Given the description of an element on the screen output the (x, y) to click on. 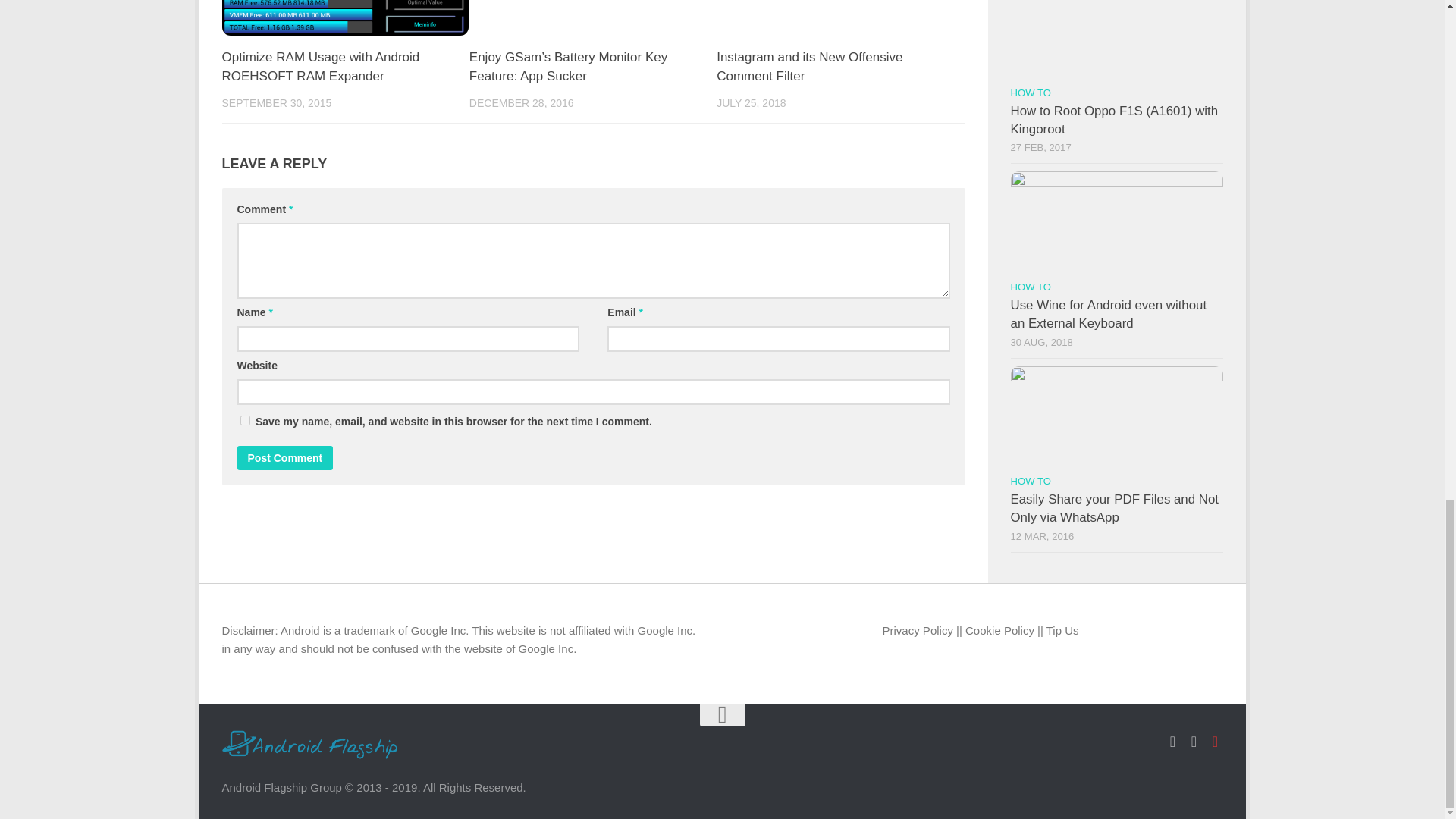
Post Comment (284, 457)
Post Comment (284, 457)
yes (244, 420)
Permalink to Instagram and its New Offensive Comment Filter (809, 66)
Optimize RAM Usage with Android ROEHSOFT RAM Expander (320, 66)
Instagram and its New Offensive Comment Filter (809, 66)
